Given the description of an element on the screen output the (x, y) to click on. 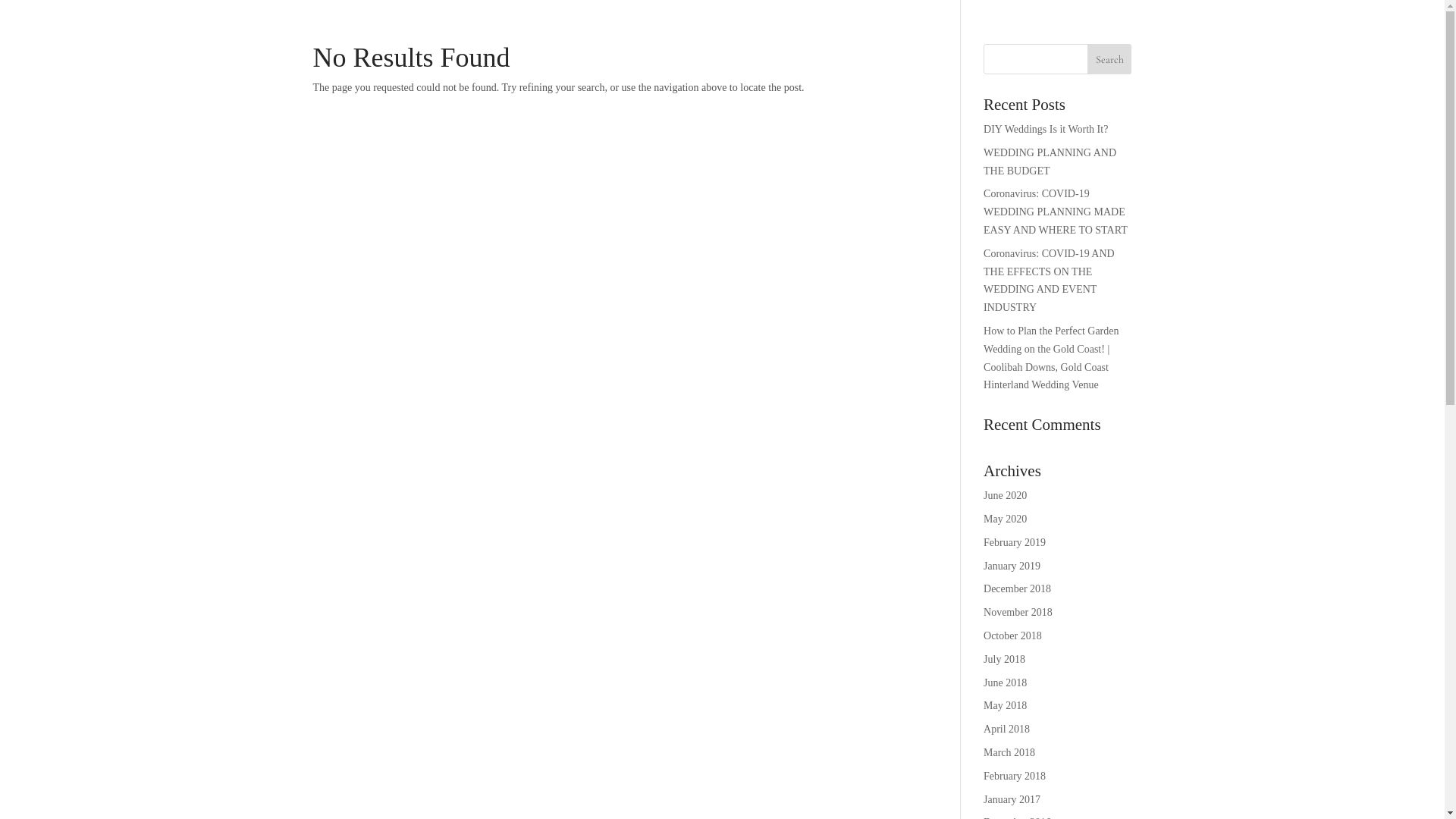
May 2020 Element type: text (1004, 518)
November 2018 Element type: text (1017, 612)
May 2018 Element type: text (1004, 705)
DIY Weddings Is it Worth It? Element type: text (1045, 128)
June 2020 Element type: text (1004, 495)
Search Element type: text (1109, 58)
February 2018 Element type: text (1014, 775)
June 2018 Element type: text (1004, 682)
January 2017 Element type: text (1011, 799)
Coolibah Downs Private Estate Element type: hover (246, 62)
March 2018 Element type: text (1009, 752)
WEDDING PLANNING AND THE BUDGET Element type: text (1049, 161)
February 2019 Element type: text (1014, 542)
October 2018 Element type: text (1012, 635)
July 2018 Element type: text (1004, 659)
December 2018 Element type: text (1017, 588)
April 2018 Element type: text (1006, 728)
January 2019 Element type: text (1011, 565)
